Given the description of an element on the screen output the (x, y) to click on. 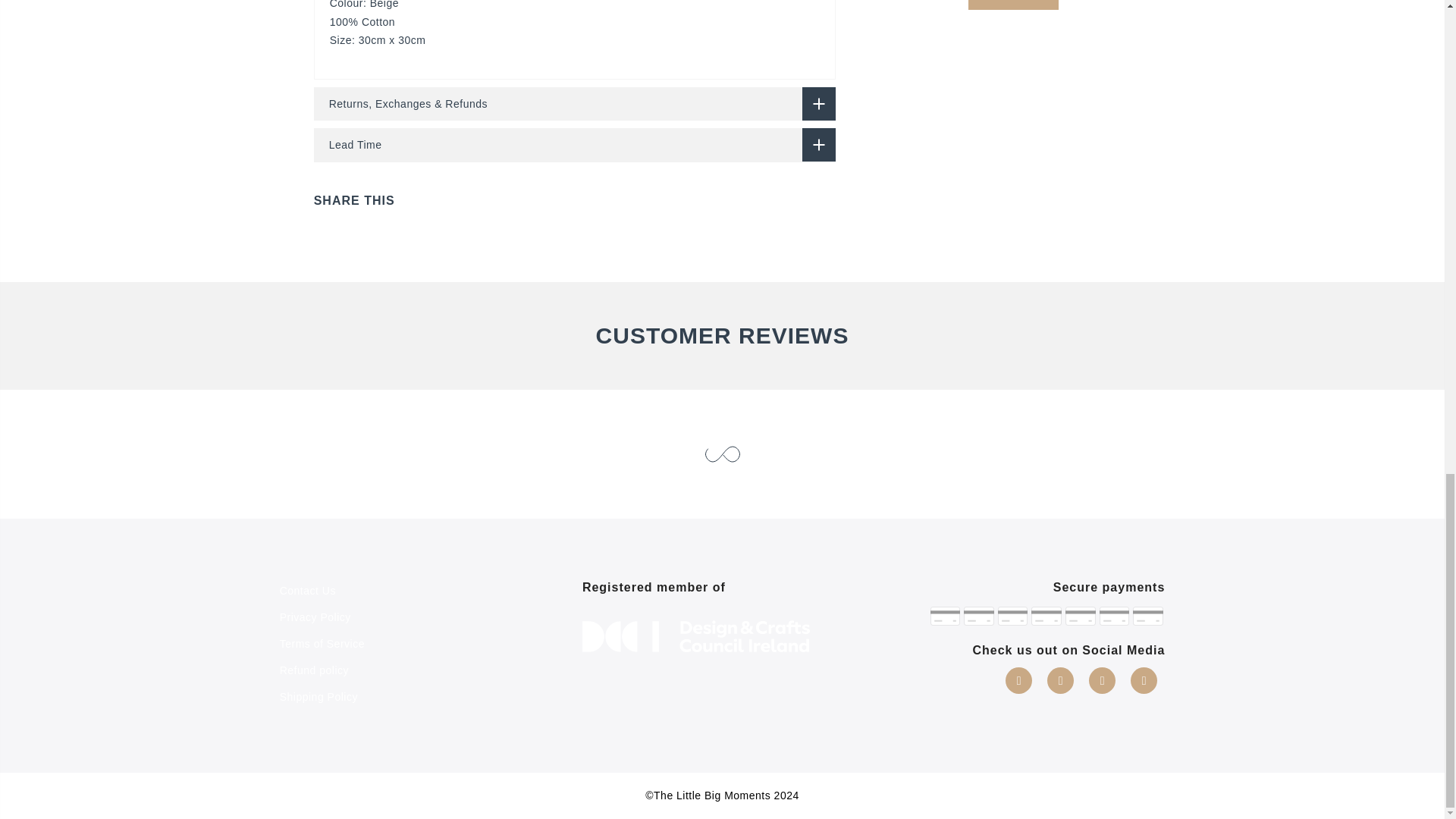
Privacy Policy (314, 616)
Terms of Service (322, 644)
Lead Time (574, 144)
Refund policy (314, 670)
Contact Us (307, 590)
ADD TO CART (1013, 4)
Shipping Policy (318, 696)
